Given the description of an element on the screen output the (x, y) to click on. 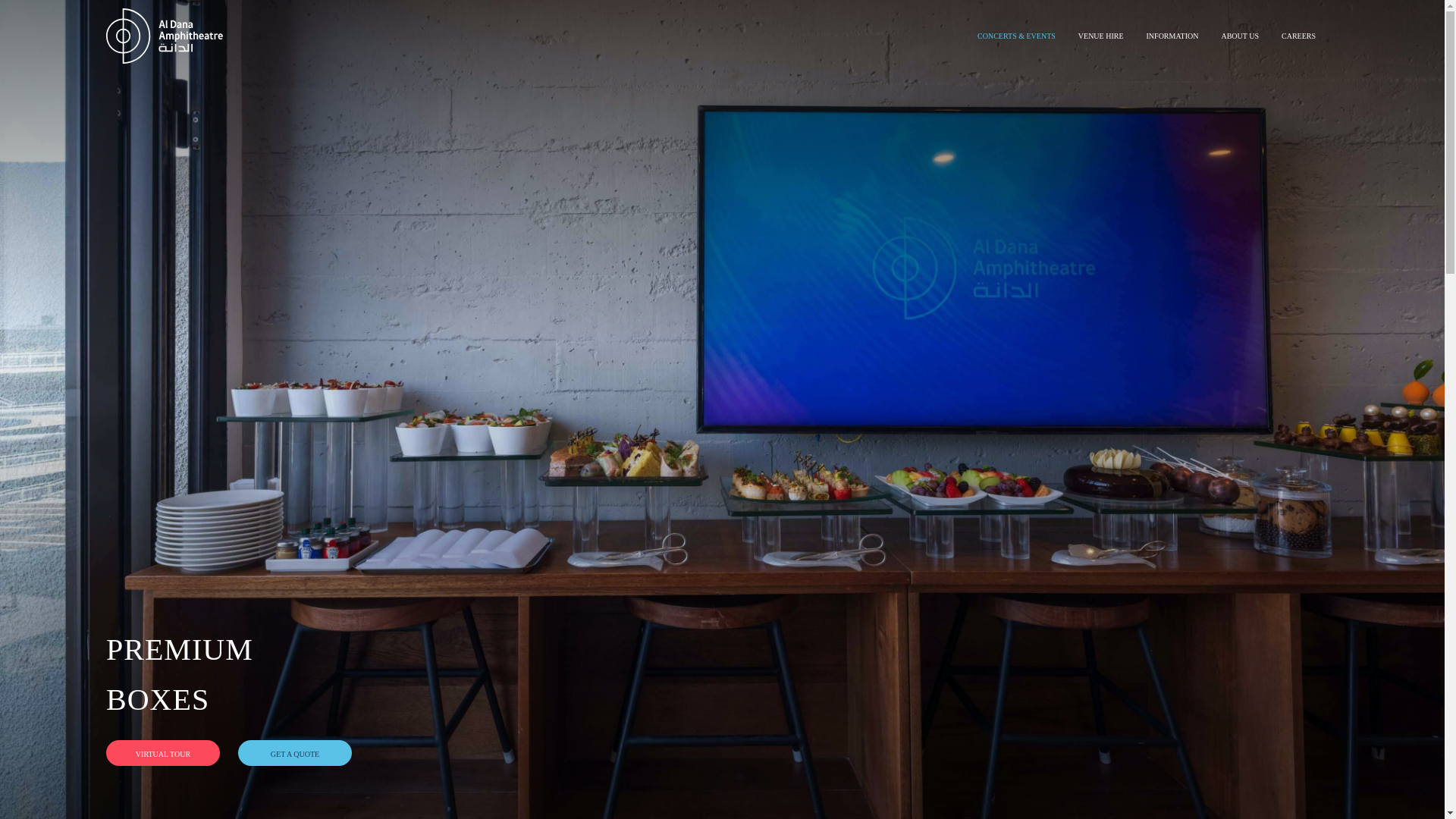
CAREERS (1298, 35)
ABOUT US (1240, 35)
INFORMATION (1172, 35)
VENUE HIRE (1101, 35)
